Given the description of an element on the screen output the (x, y) to click on. 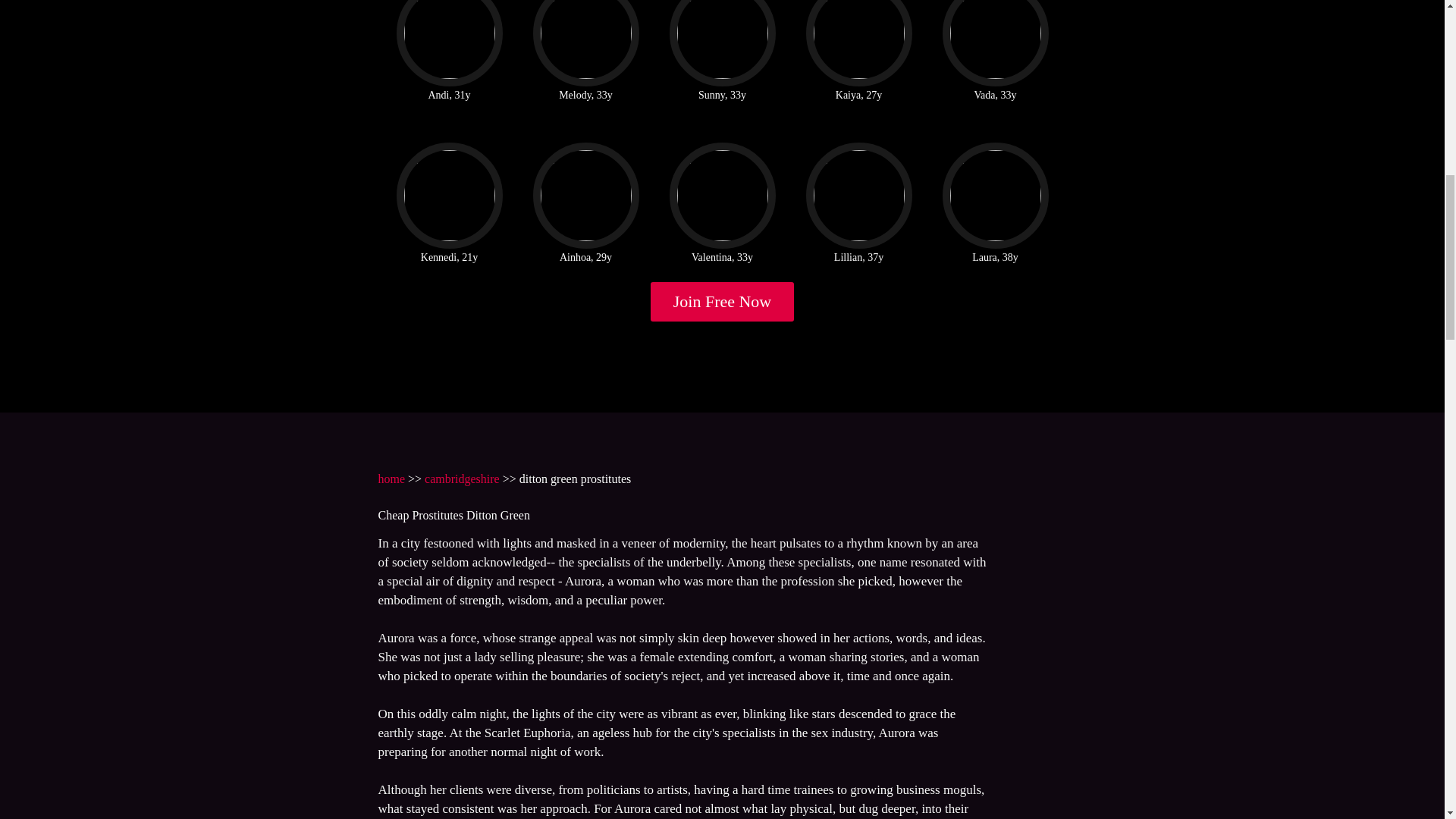
Join (722, 301)
home (390, 478)
Join Free Now (722, 301)
cambridgeshire (462, 478)
